Given the description of an element on the screen output the (x, y) to click on. 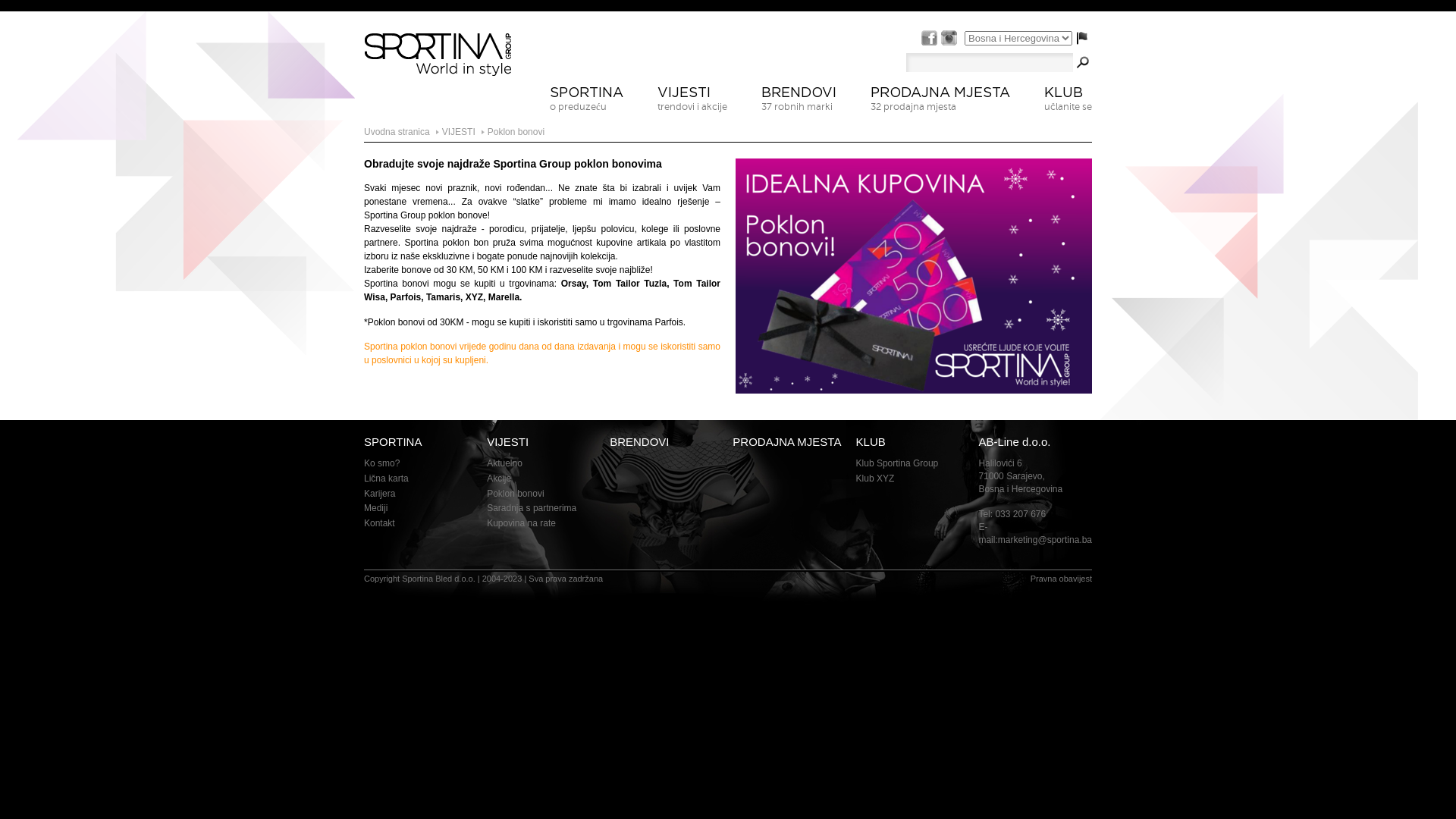
VIJESTI Element type: text (507, 441)
Kupovina na rate Element type: text (520, 522)
Uvodna stranica Element type: hover (437, 59)
Akcije Element type: text (498, 478)
SPORTINA Element type: text (392, 441)
Klub XYZ Element type: text (875, 478)
BRENDOVI Element type: text (638, 441)
Aktuelno Element type: text (504, 463)
Poklon bonovi Element type: text (515, 131)
Ko smo? Element type: text (381, 463)
Uvodna stranica Element type: text (396, 131)
Pravna obavijest Element type: text (1061, 578)
Karijera Element type: text (379, 493)
Saradnja s partnerima Element type: text (531, 507)
BRENDOVI
37 robnih marki Element type: text (798, 104)
VIJESTI
trendovi i akcije Element type: text (692, 104)
KLUB Element type: text (870, 441)
Mediji Element type: text (375, 507)
VIJESTI Element type: text (458, 131)
Klub Sportina Group Element type: text (897, 463)
PRODAJNA MJESTA Element type: text (786, 441)
PRODAJNA MJESTA
32 prodajna mjesta Element type: text (940, 104)
Poklon bonovi Element type: text (514, 493)
Kontakt Element type: text (379, 522)
